Given the description of an element on the screen output the (x, y) to click on. 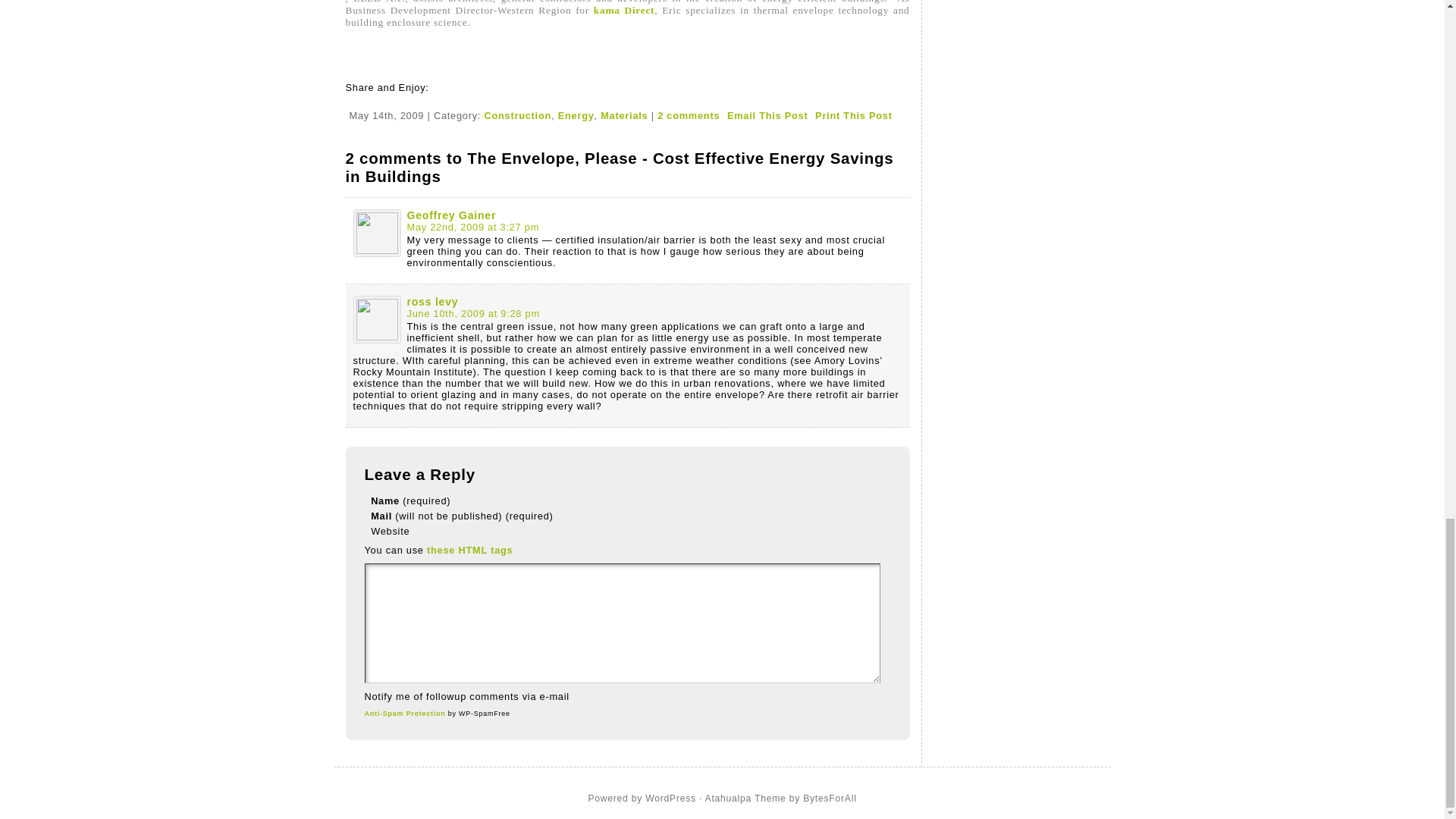
Digg (372, 99)
Google (353, 99)
Digg (372, 99)
kama Direct (623, 9)
Reddit (388, 99)
Email This Post (767, 115)
Google (353, 99)
Print This Post (853, 115)
Reddit (388, 99)
